Given the description of an element on the screen output the (x, y) to click on. 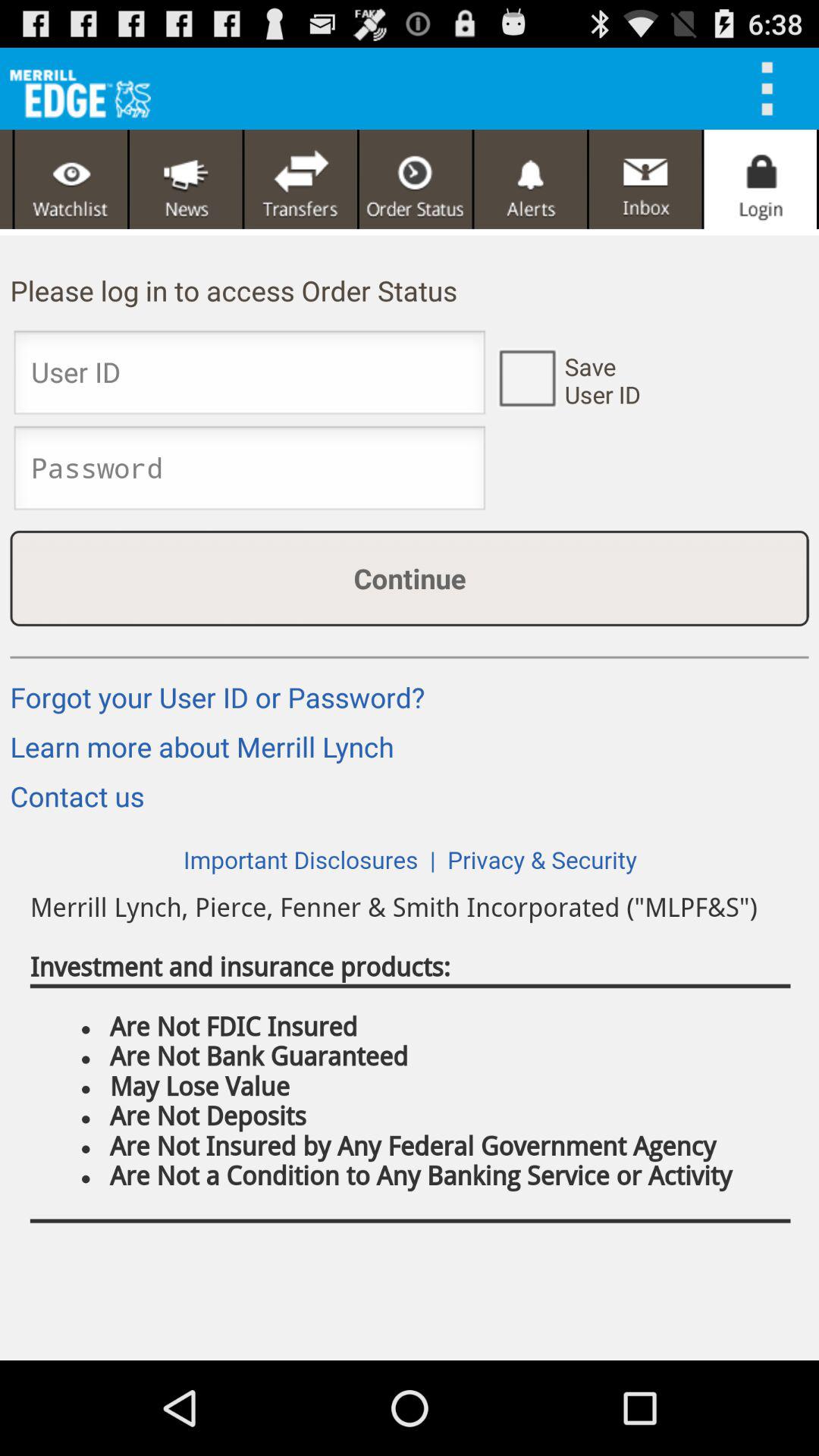
go to page (415, 179)
